Given the description of an element on the screen output the (x, y) to click on. 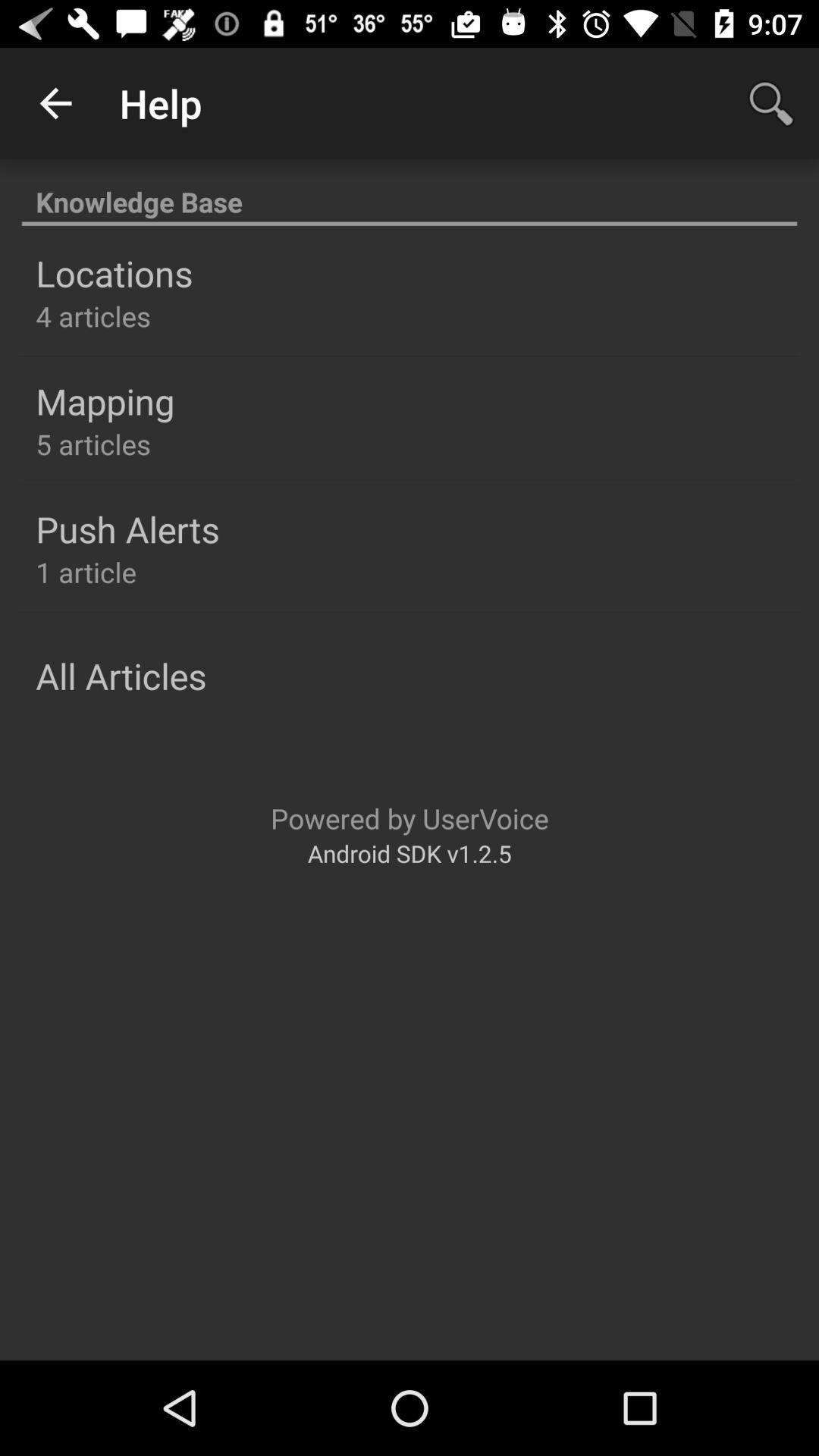
press app to the right of help app (771, 103)
